Given the description of an element on the screen output the (x, y) to click on. 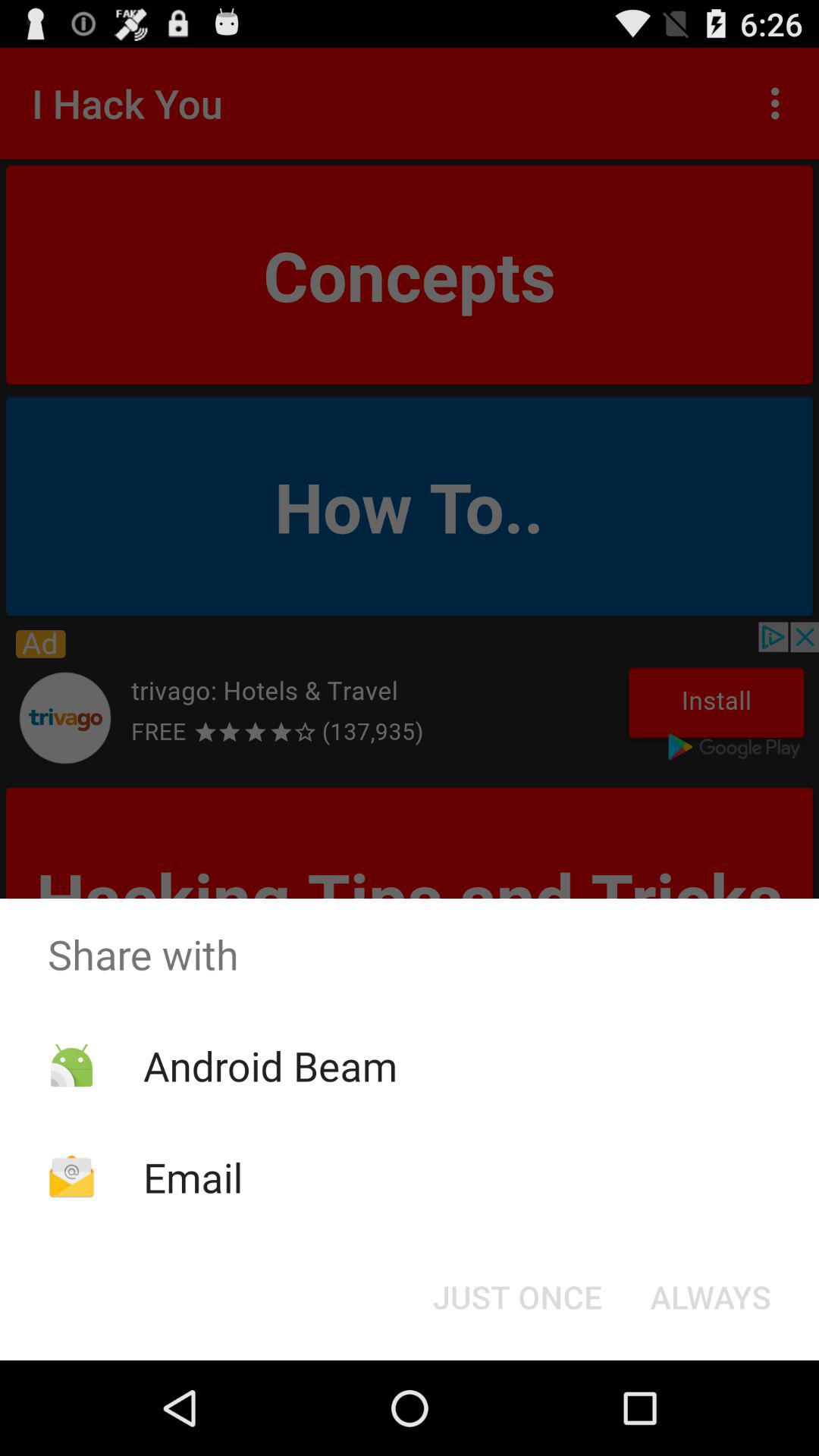
select the button to the left of the always button (517, 1296)
